Given the description of an element on the screen output the (x, y) to click on. 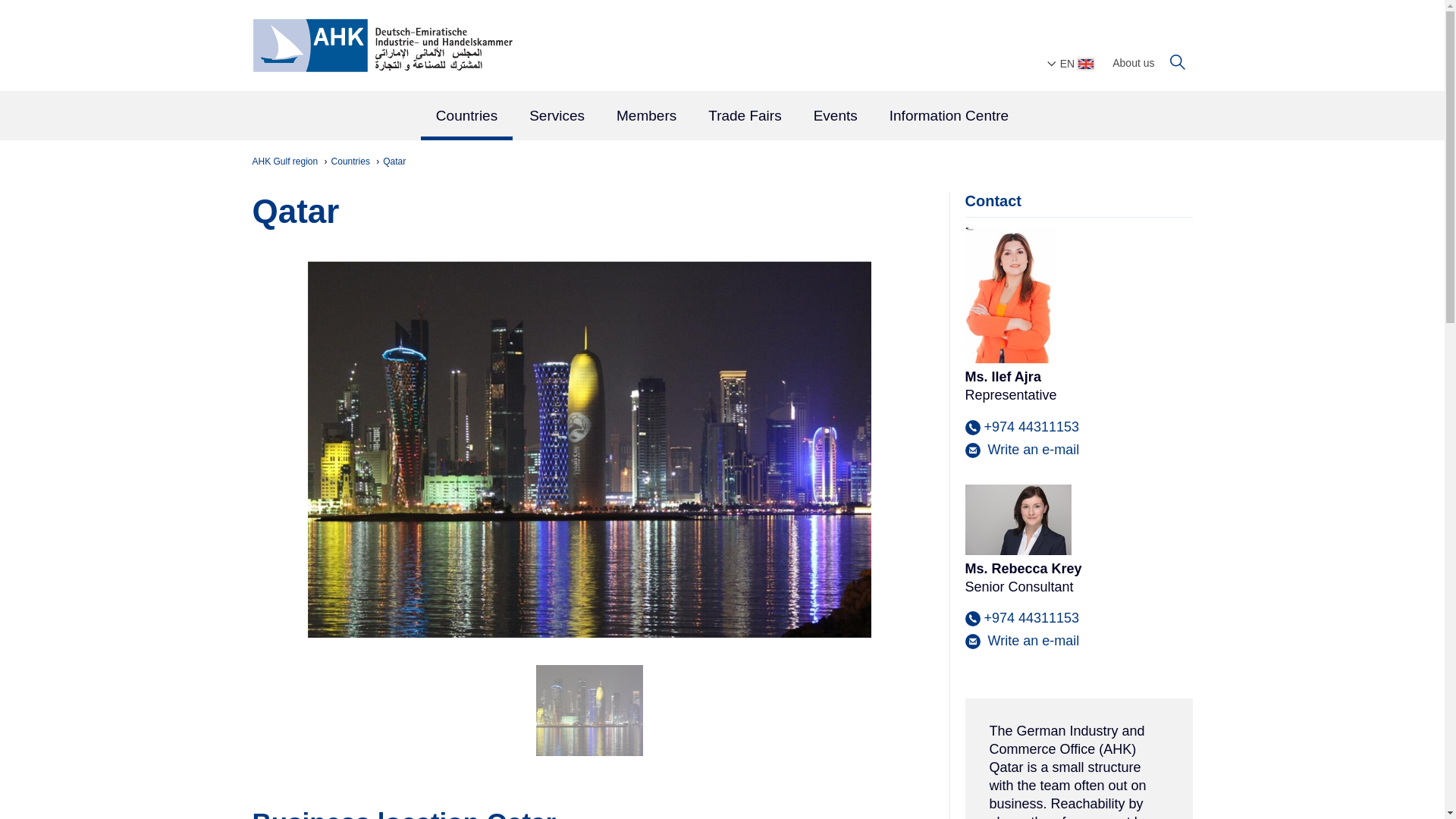
Countries (351, 161)
Ms.  Ilef Ajra (1020, 449)
Ms.  Rebecca Krey (1020, 640)
Qatar (394, 161)
AHK Gulf region (285, 161)
Ms. Rebecca Krey (1016, 519)
Main (721, 117)
